Given the description of an element on the screen output the (x, y) to click on. 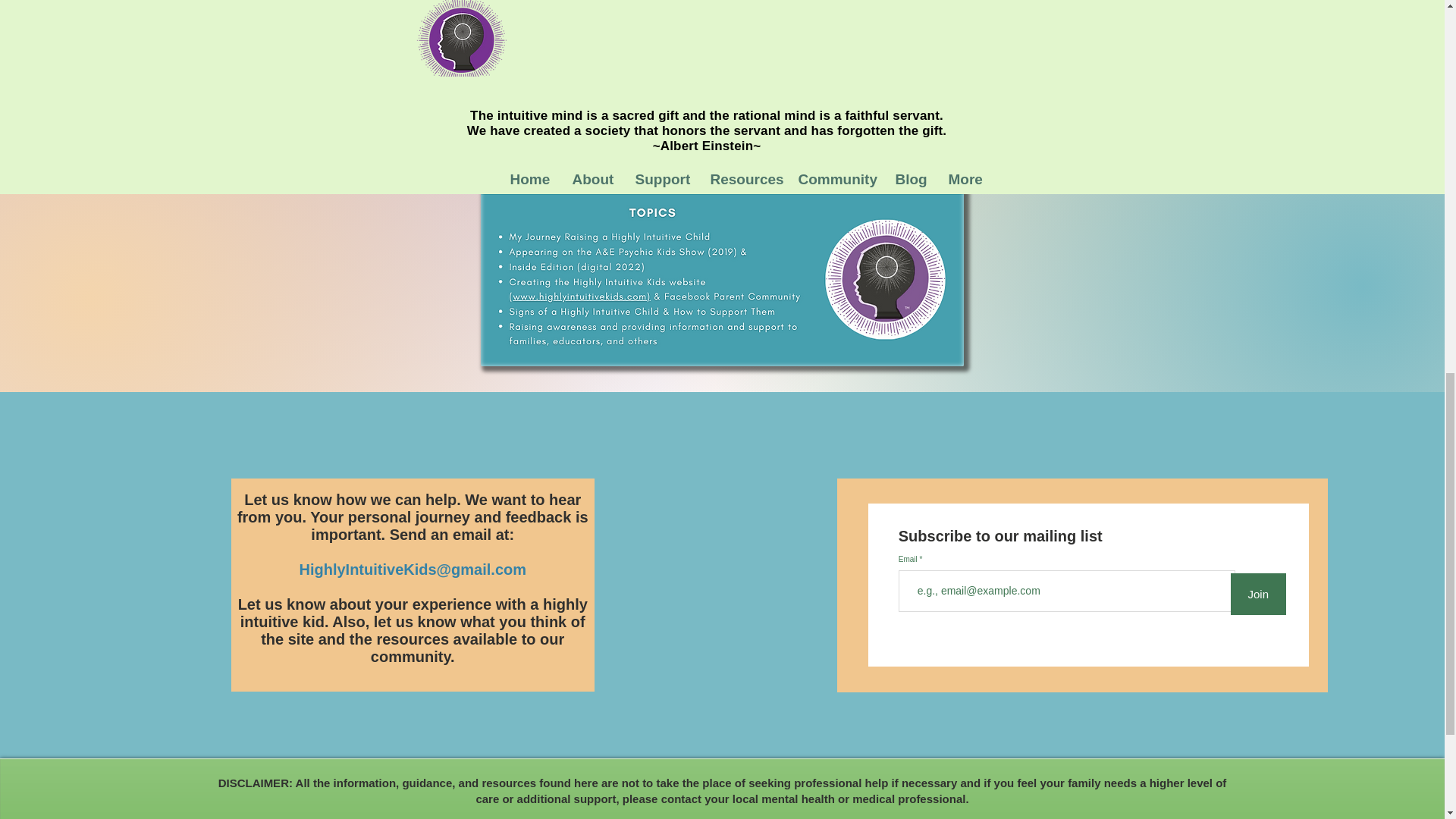
Join (1257, 594)
